Given the description of an element on the screen output the (x, y) to click on. 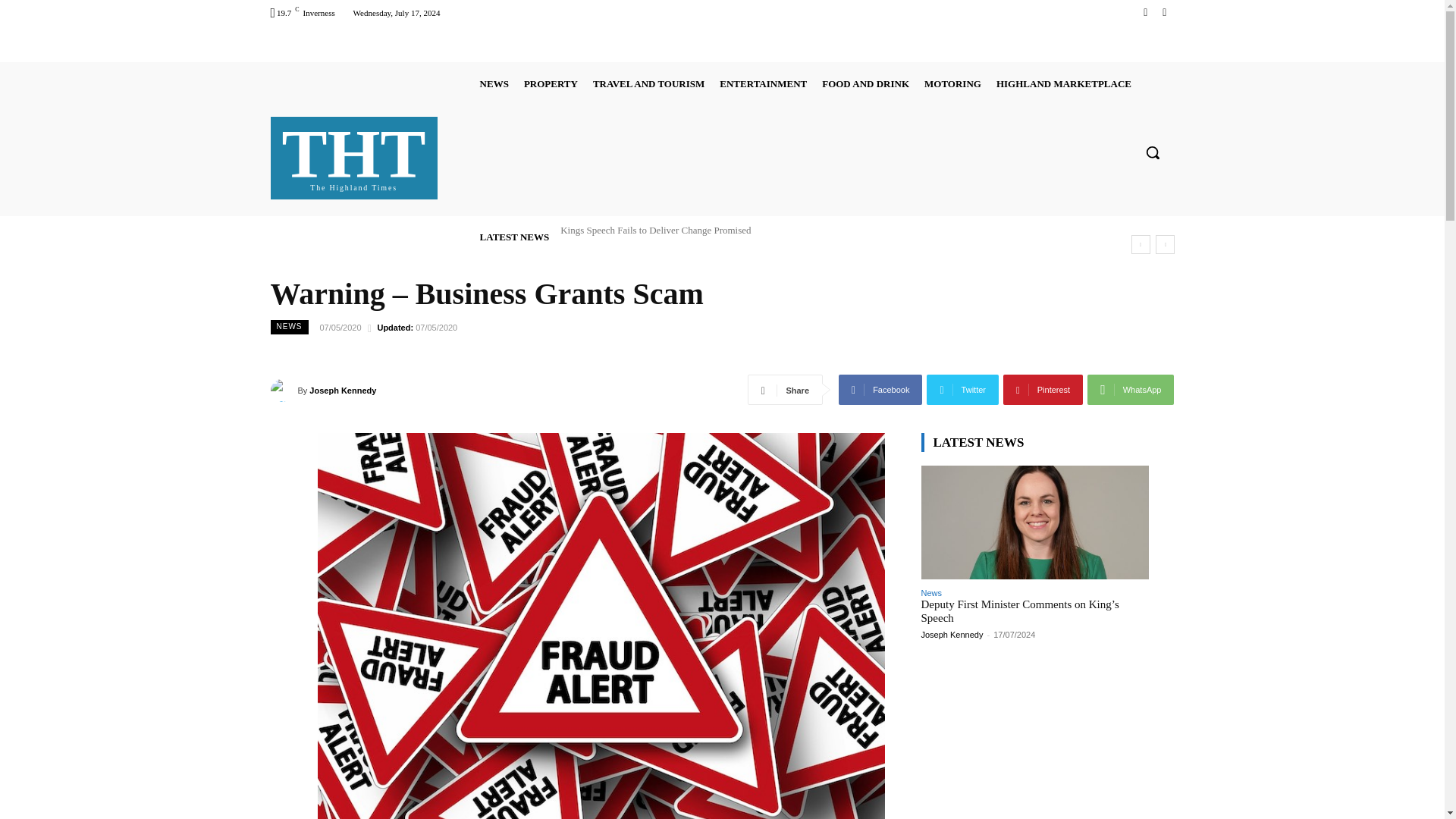
HIGHLAND MARKETPLACE (1063, 83)
TRAVEL AND TOURISM (648, 83)
MOTORING (952, 83)
FOOD AND DRINK (865, 83)
Facebook (1144, 12)
Twitter (1163, 12)
Kings Speech Fails to Deliver Change Promised (655, 229)
PROPERTY (550, 83)
ENTERTAINMENT (354, 155)
NEWS (762, 83)
